Given the description of an element on the screen output the (x, y) to click on. 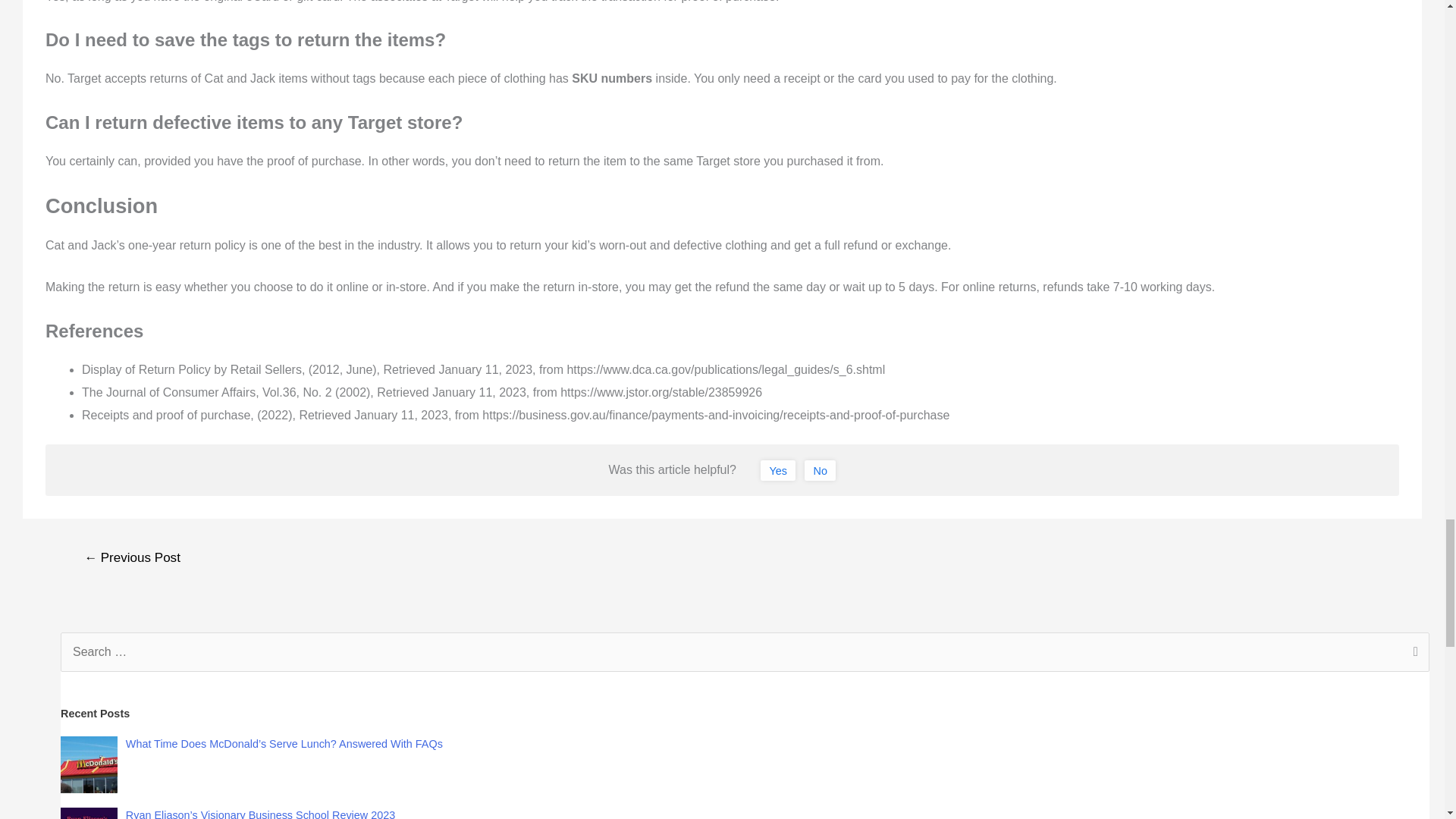
Search (1411, 653)
What time does McDonalds Serve lunch (89, 764)
visionary business school (89, 813)
Search (1411, 653)
Search (1411, 653)
